Given the description of an element on the screen output the (x, y) to click on. 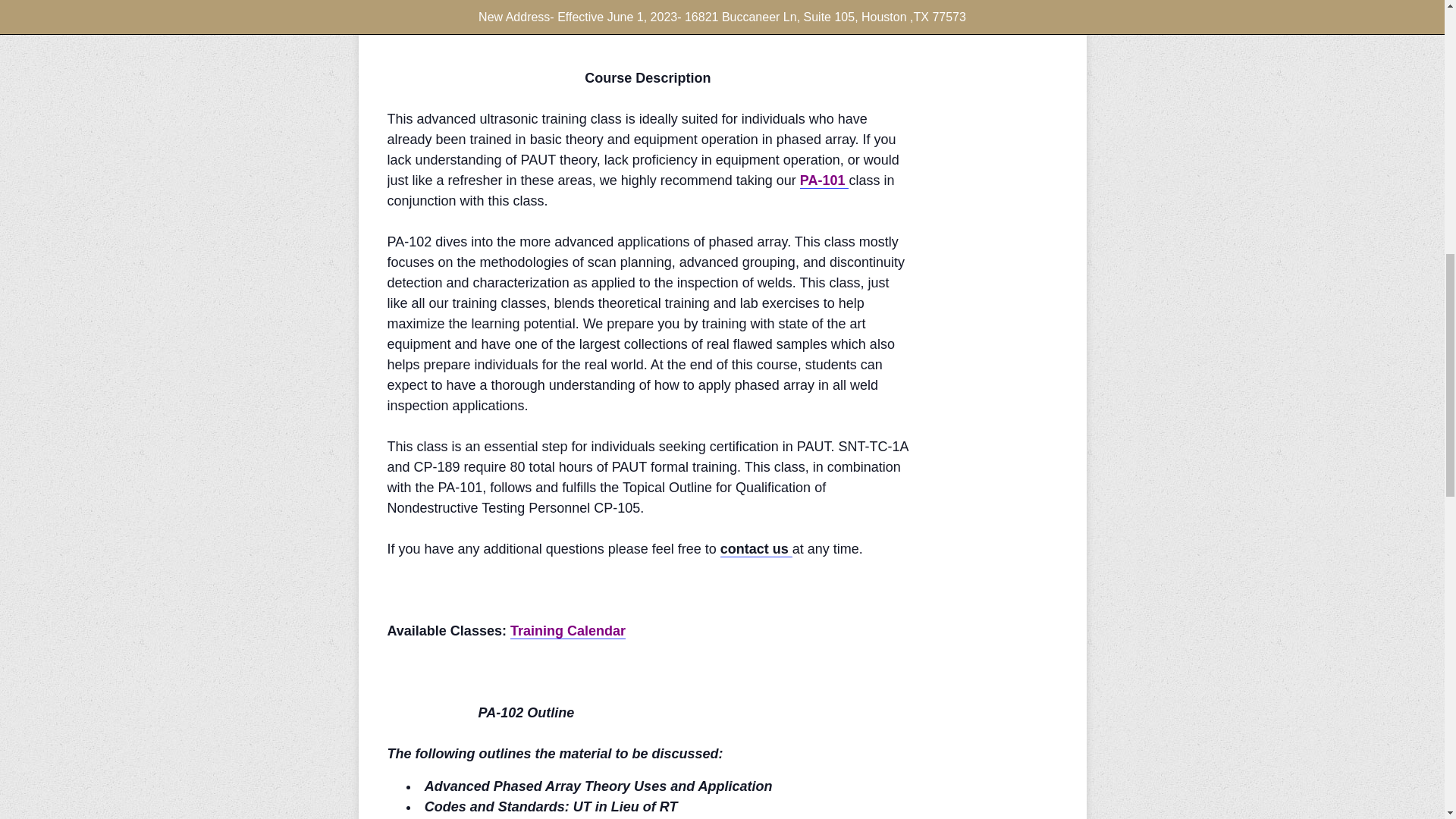
Contact Us (756, 549)
Training Calendar (568, 631)
Training Calendar (568, 631)
PA-101 Introduction to Phased Array (823, 180)
contact us (756, 549)
PA-101 (823, 180)
